Given the description of an element on the screen output the (x, y) to click on. 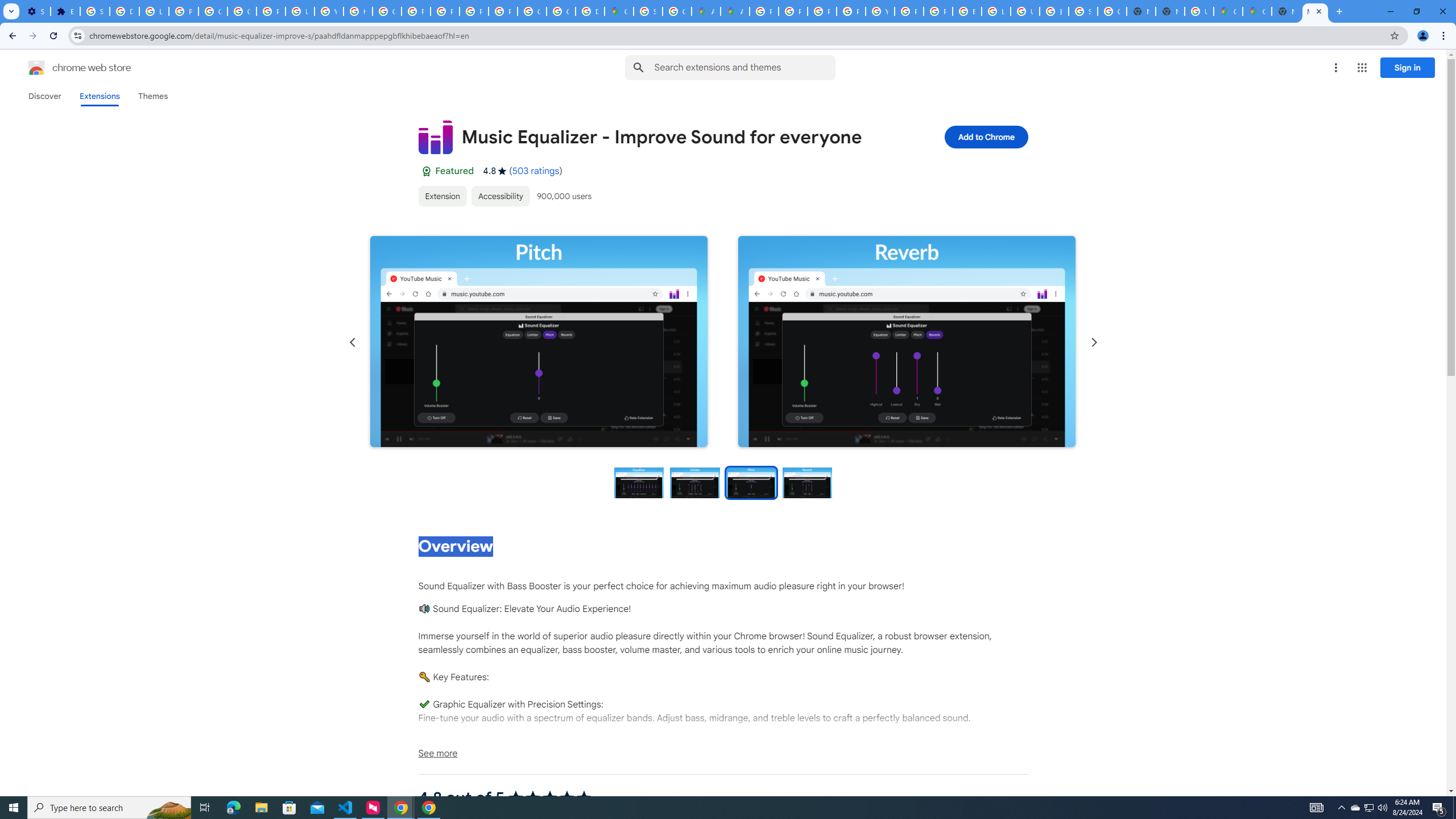
Accessibility (499, 195)
Create your Google Account (677, 11)
More options menu (1335, 67)
Extension (442, 195)
Settings - On startup (35, 11)
Use Google Maps in Space - Google Maps Help (1198, 11)
Themes (152, 95)
